Given the description of an element on the screen output the (x, y) to click on. 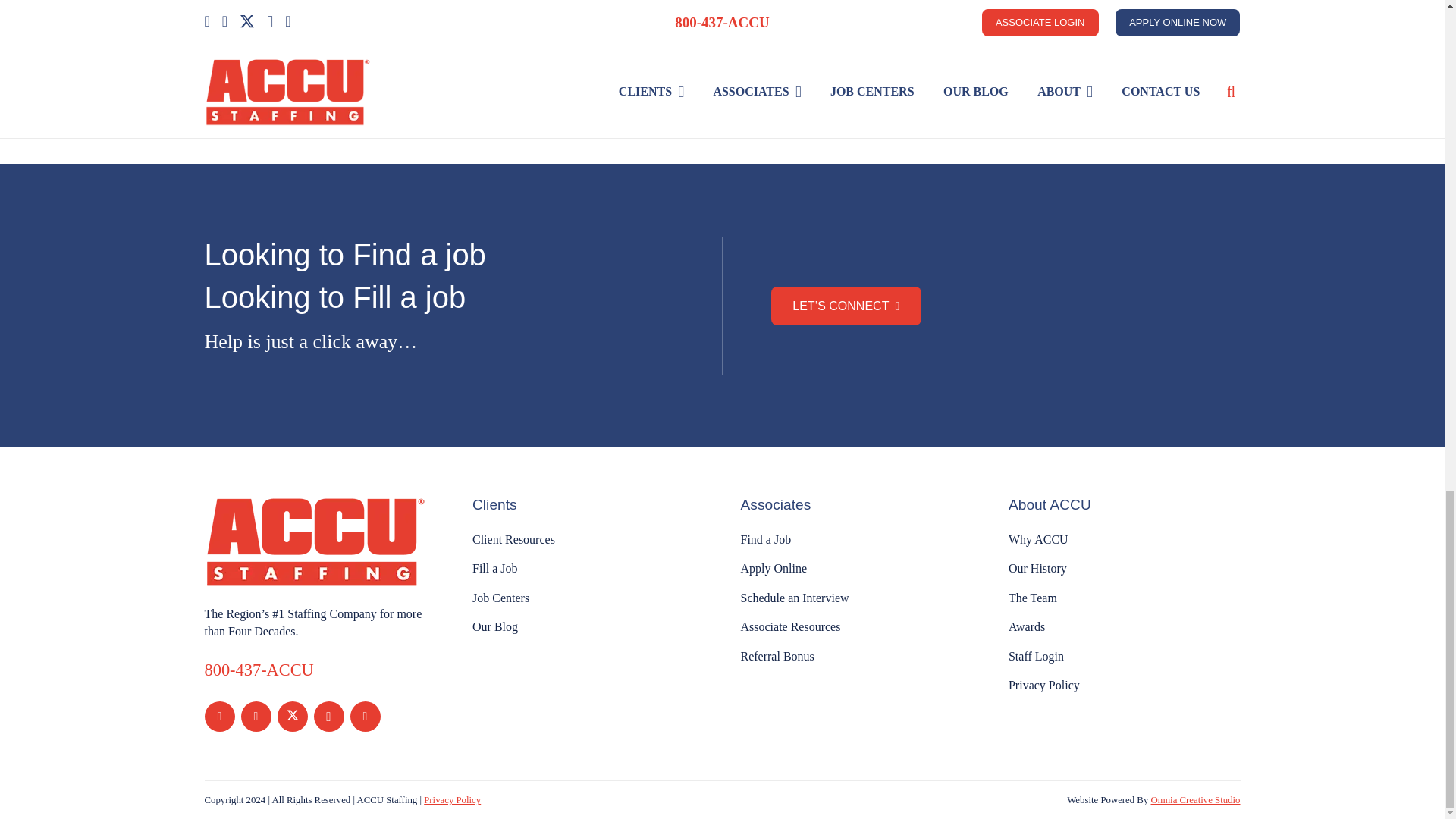
Share this (301, 83)
Pin this (783, 83)
Tweet this (462, 83)
Share this (623, 83)
